Given the description of an element on the screen output the (x, y) to click on. 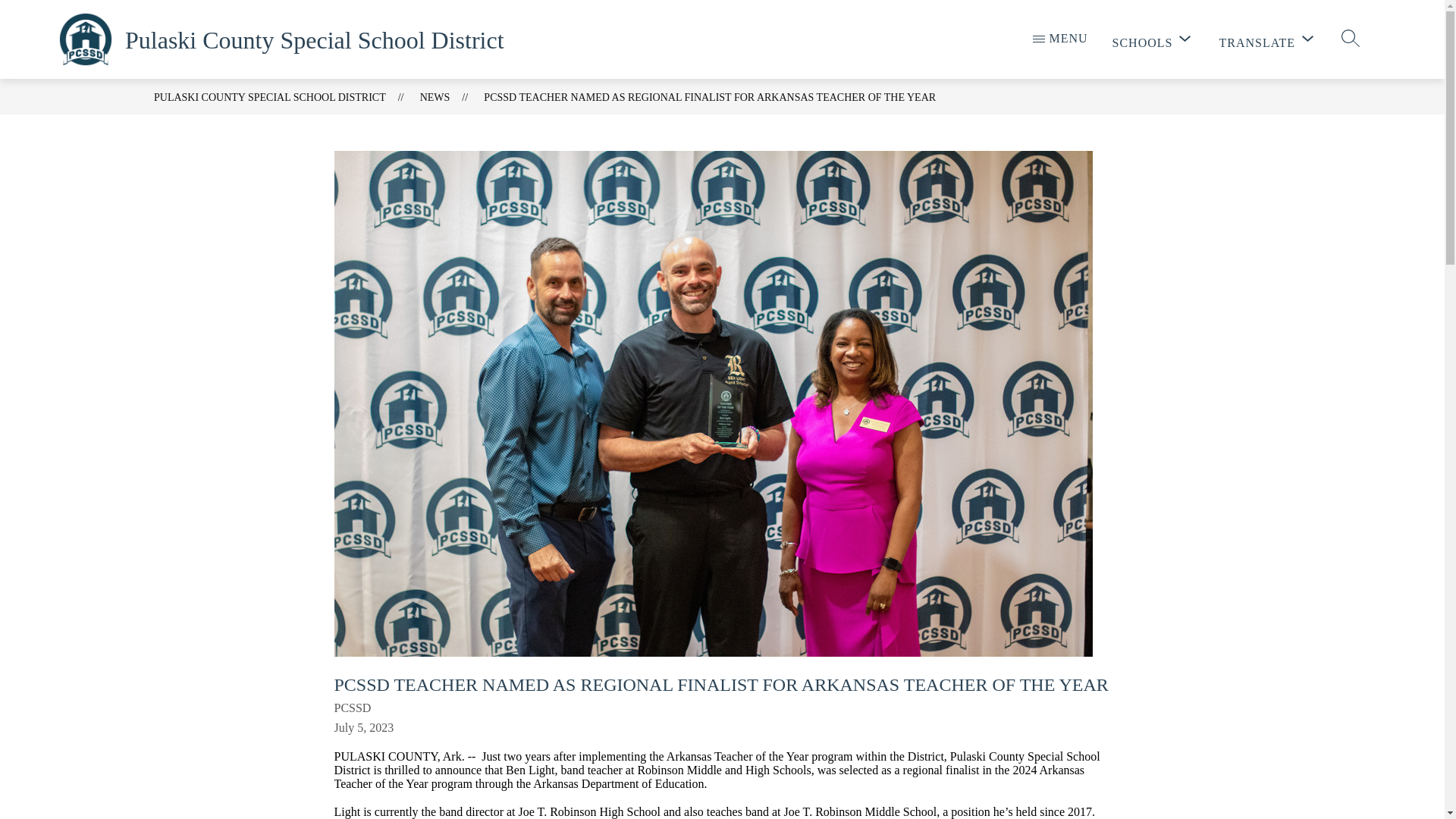
TRANSLATE (1267, 40)
MENU (1059, 37)
SCHOOLS (1153, 40)
PULASKI COUNTY SPECIAL SCHOOL DISTRICT (269, 97)
NEWS (434, 97)
